Given the description of an element on the screen output the (x, y) to click on. 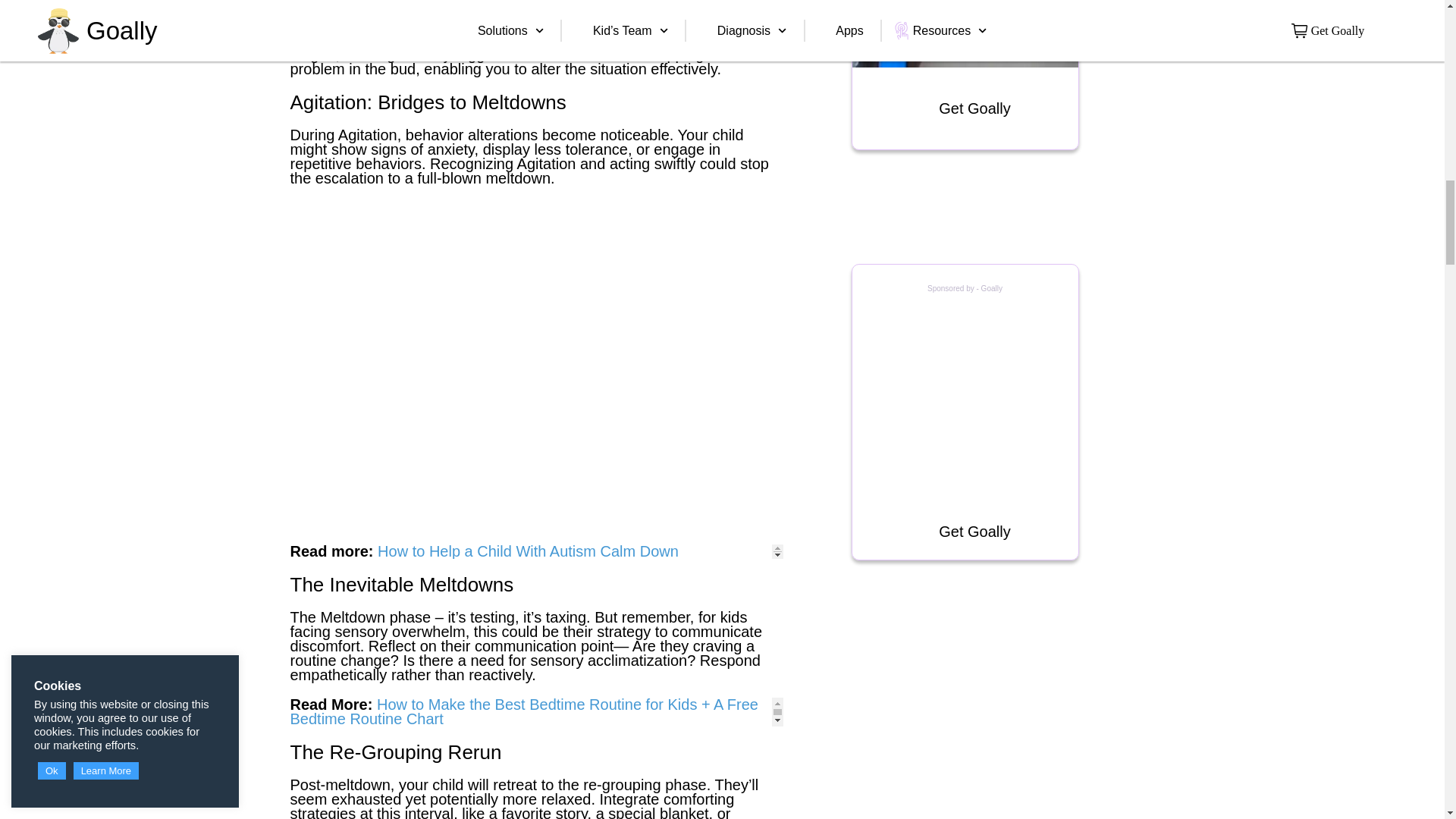
Video Player (964, 33)
